Given the description of an element on the screen output the (x, y) to click on. 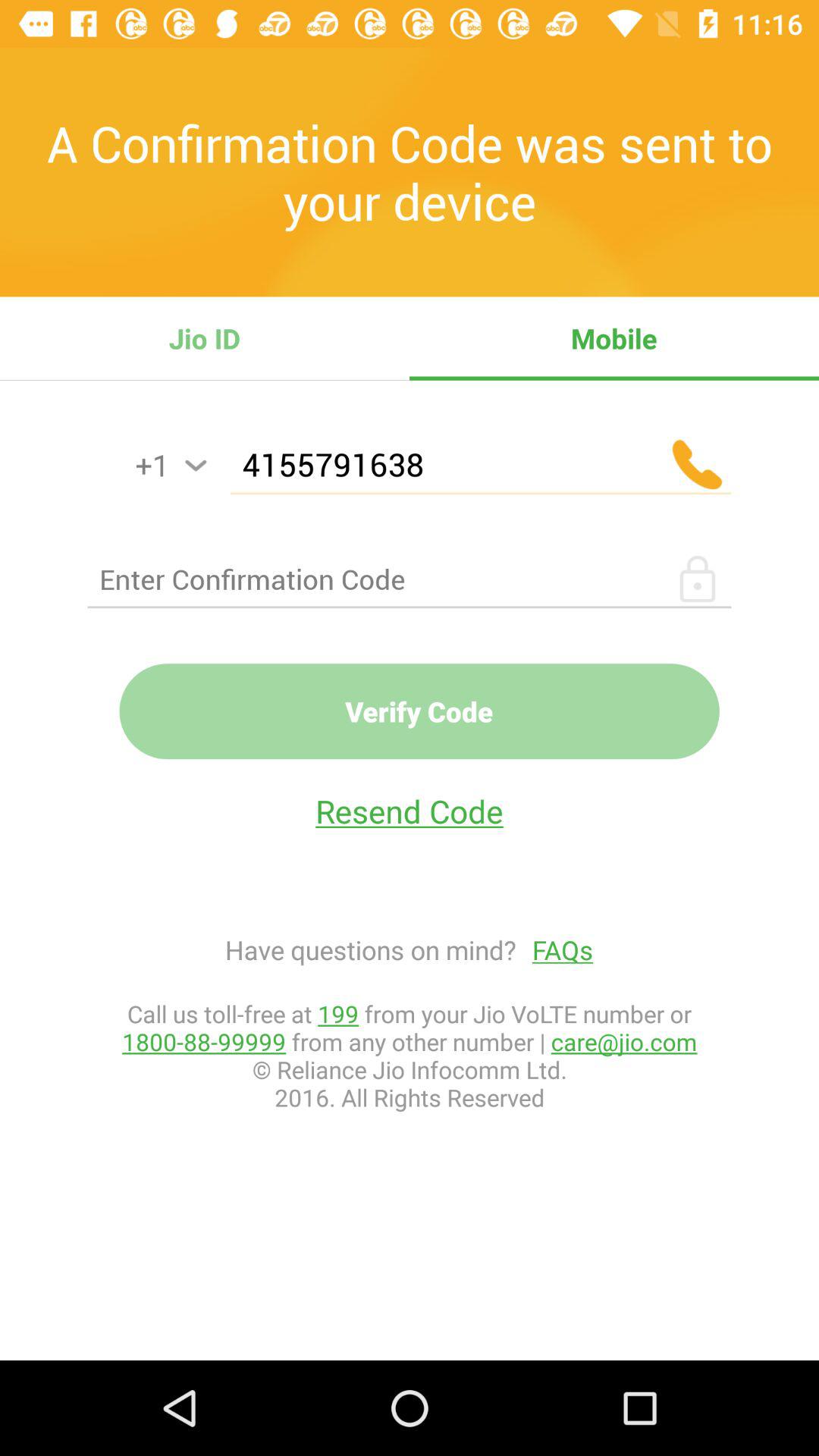
press the item above the resend code icon (419, 711)
